Given the description of an element on the screen output the (x, y) to click on. 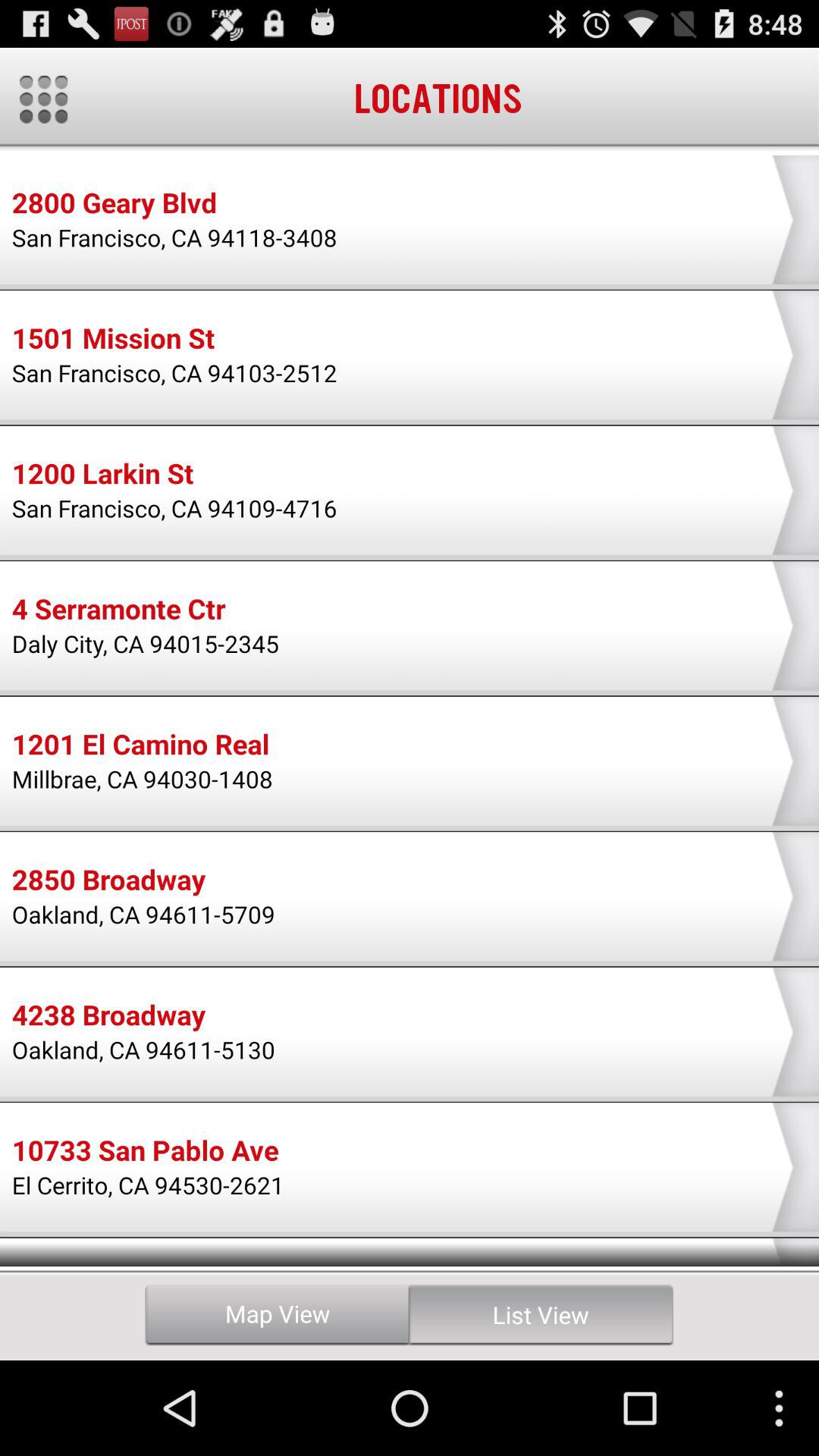
select the icon below the oakland ca 94611 app (144, 1152)
